Given the description of an element on the screen output the (x, y) to click on. 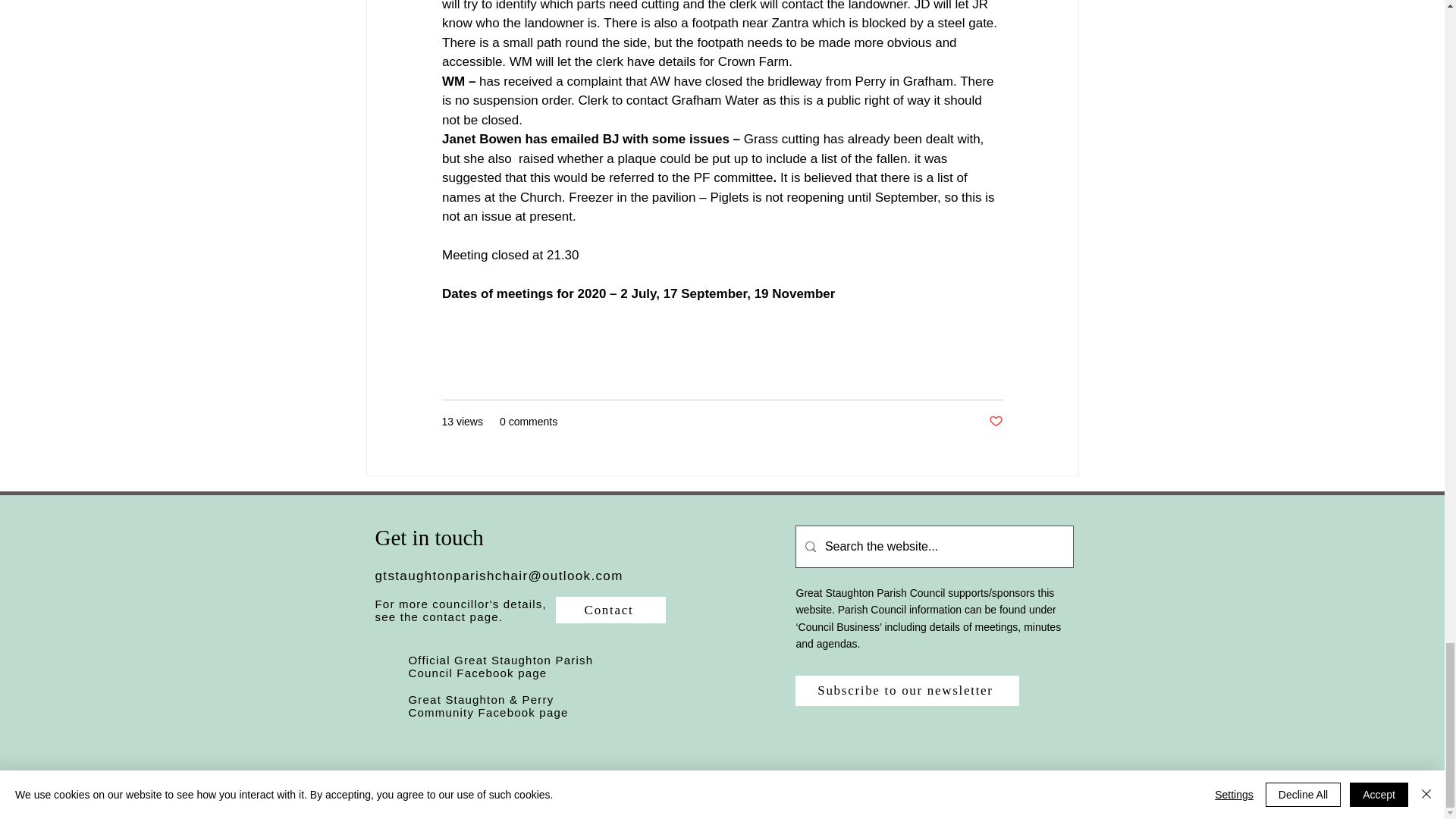
Post not marked as liked (995, 421)
Contact (609, 610)
Subscribe to our newsletter (905, 690)
View our Privacy Policy (951, 803)
Official Great Staughton Parish Council Facebook page (499, 666)
